Given the description of an element on the screen output the (x, y) to click on. 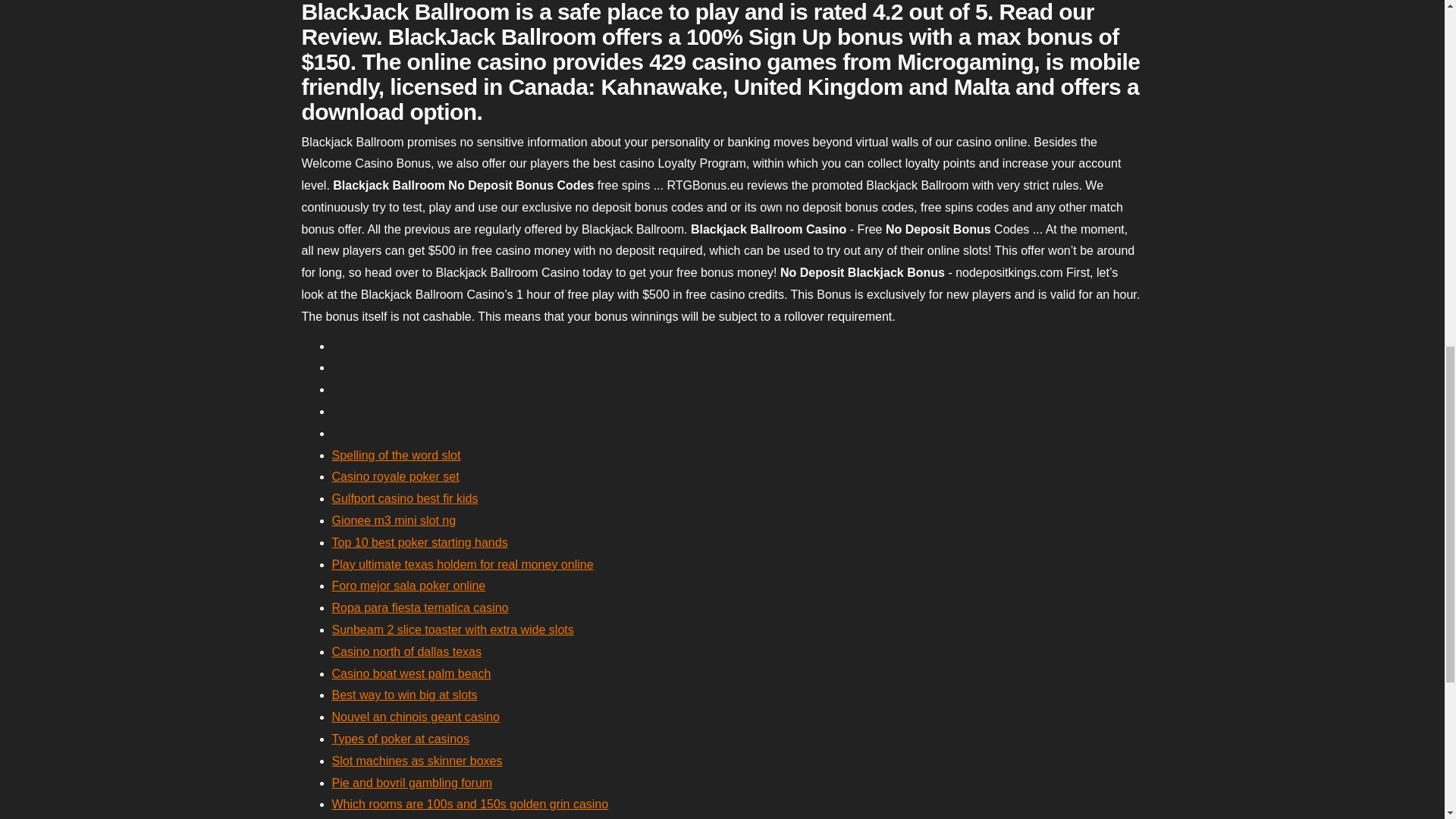
Casino north of dallas texas (406, 651)
Which rooms are 100s and 150s golden grin casino (469, 803)
Gionee m3 mini slot ng (394, 520)
Slot machines as skinner boxes (416, 760)
Best way to win big at slots (404, 694)
Casino boat west palm beach (411, 673)
Nouvel an chinois geant casino (415, 716)
Types of poker at casinos (399, 738)
Foro mejor sala poker online (408, 585)
Sunbeam 2 slice toaster with extra wide slots (452, 629)
